Given the description of an element on the screen output the (x, y) to click on. 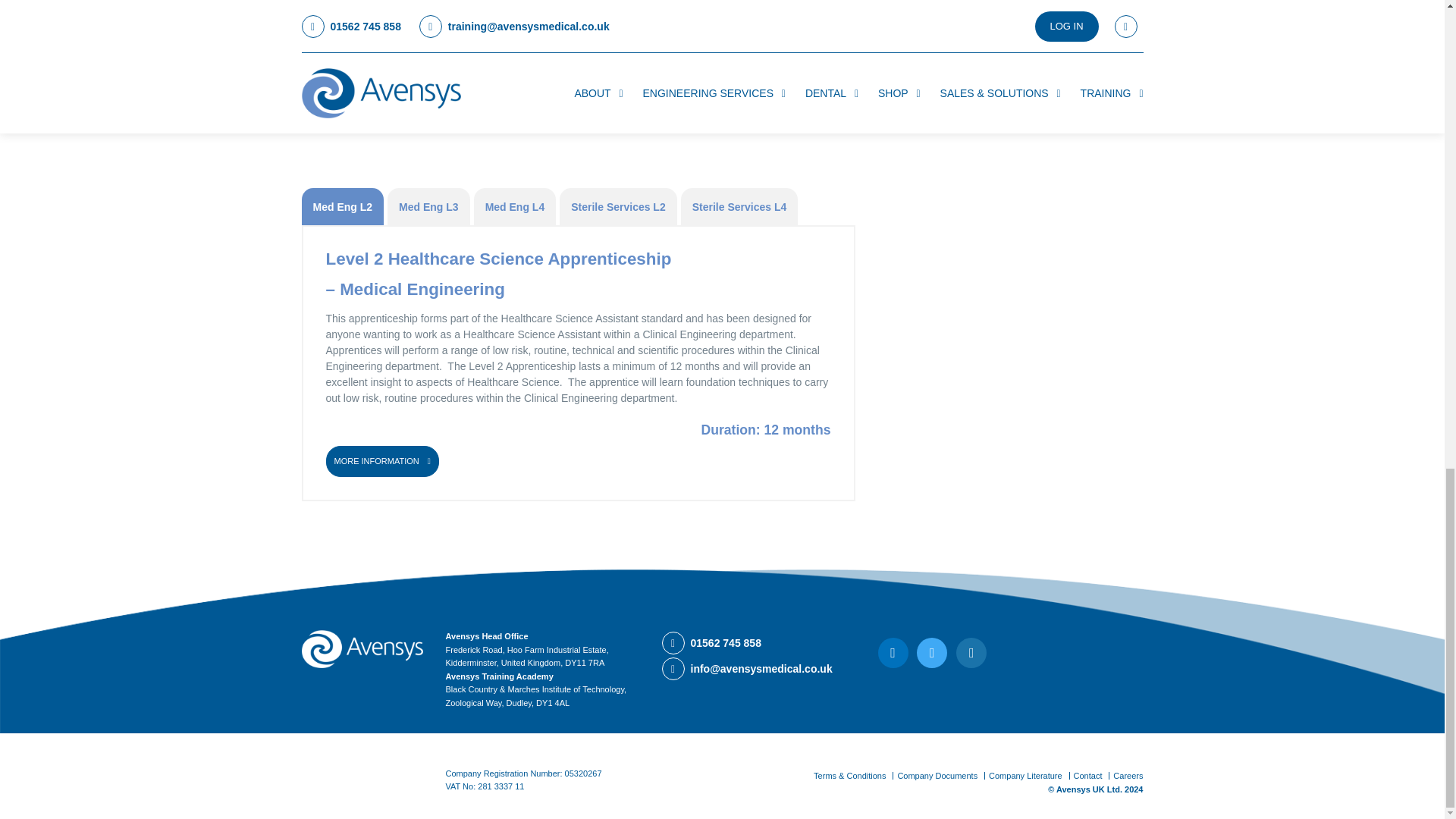
Follow us on LinkedIn (971, 652)
Follow us on Twitter (892, 652)
Find us on Facebook (932, 652)
